Given the description of an element on the screen output the (x, y) to click on. 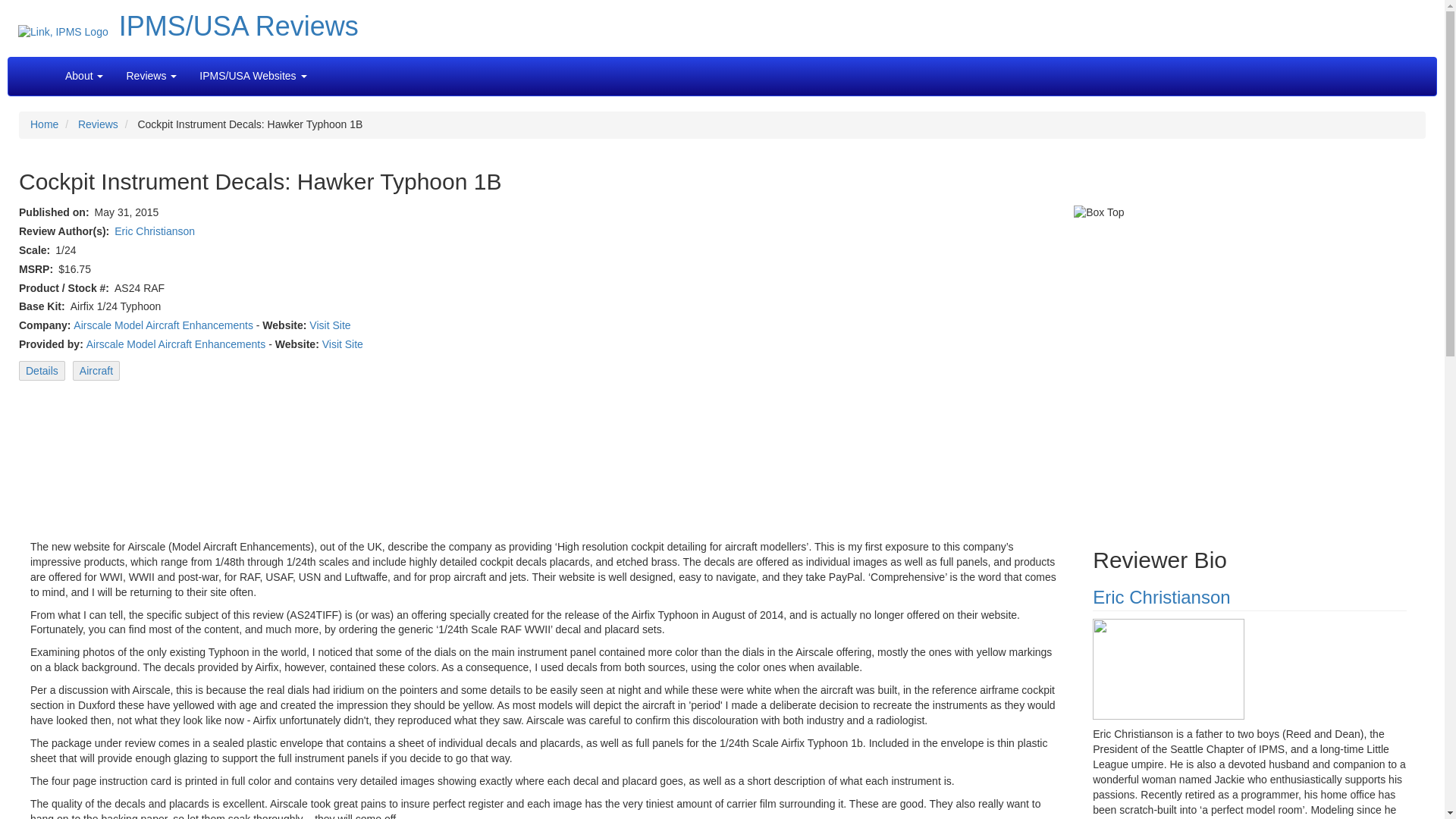
Reviews (97, 123)
Airscale Model Aircraft Enhancements (175, 344)
Home (44, 123)
Search (329, 68)
Eric Christianson (155, 231)
Eric Christianson (1161, 597)
Reviews (150, 76)
Details (41, 370)
Aircraft (95, 370)
Box Top (1183, 356)
Visit Site (341, 344)
Airscale Model Aircraft Enhancements (163, 325)
Visit Site (329, 325)
About (84, 76)
